Given the description of an element on the screen output the (x, y) to click on. 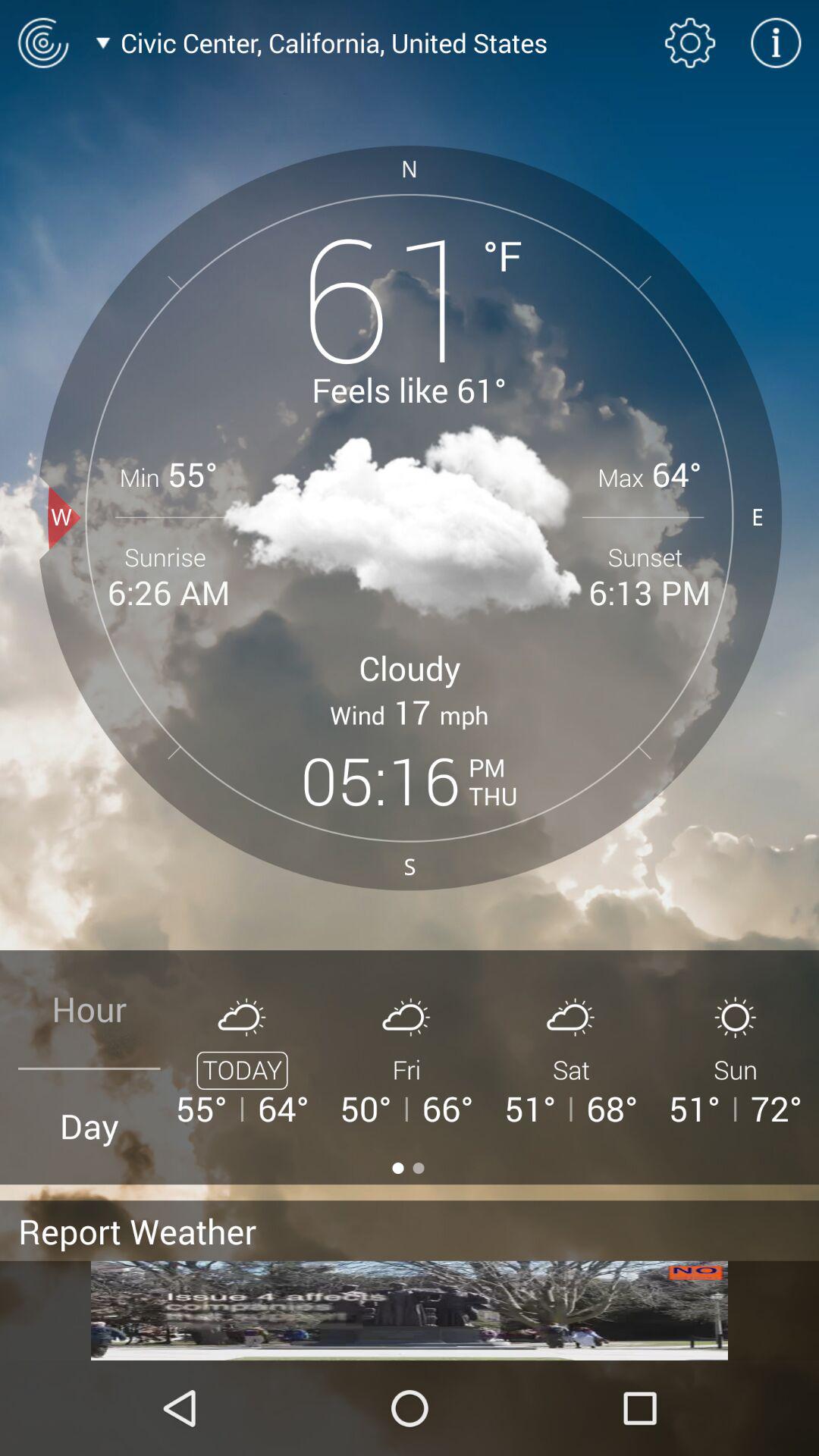
access information (776, 42)
